Given the description of an element on the screen output the (x, y) to click on. 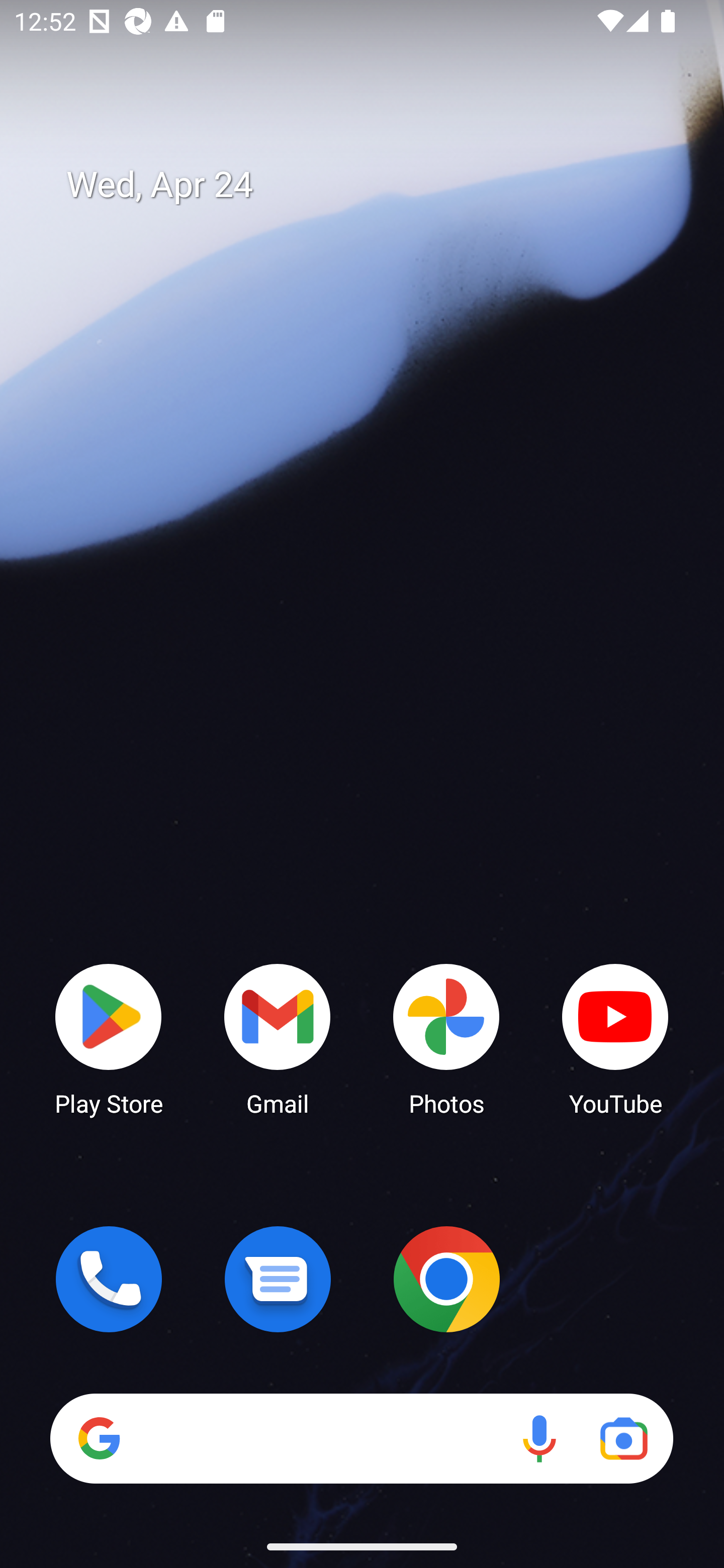
Wed, Apr 24 (375, 184)
Play Store (108, 1038)
Gmail (277, 1038)
Photos (445, 1038)
YouTube (615, 1038)
Phone (108, 1279)
Messages (277, 1279)
Chrome (446, 1279)
Search Voice search Google Lens (361, 1438)
Voice search (539, 1438)
Google Lens (623, 1438)
